Given the description of an element on the screen output the (x, y) to click on. 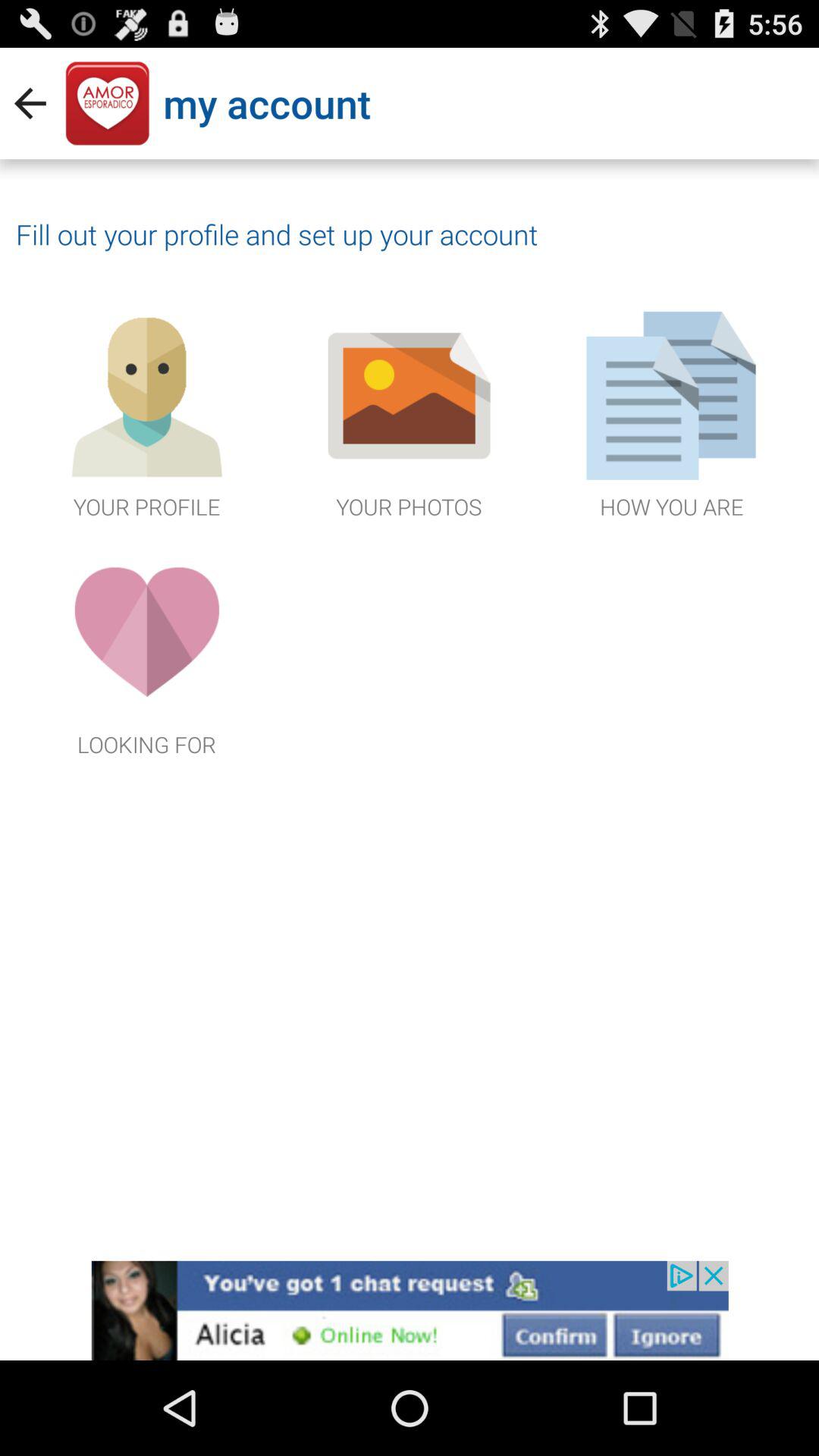
click on looking for (146, 650)
tap the how you are icon (671, 412)
